Given the description of an element on the screen output the (x, y) to click on. 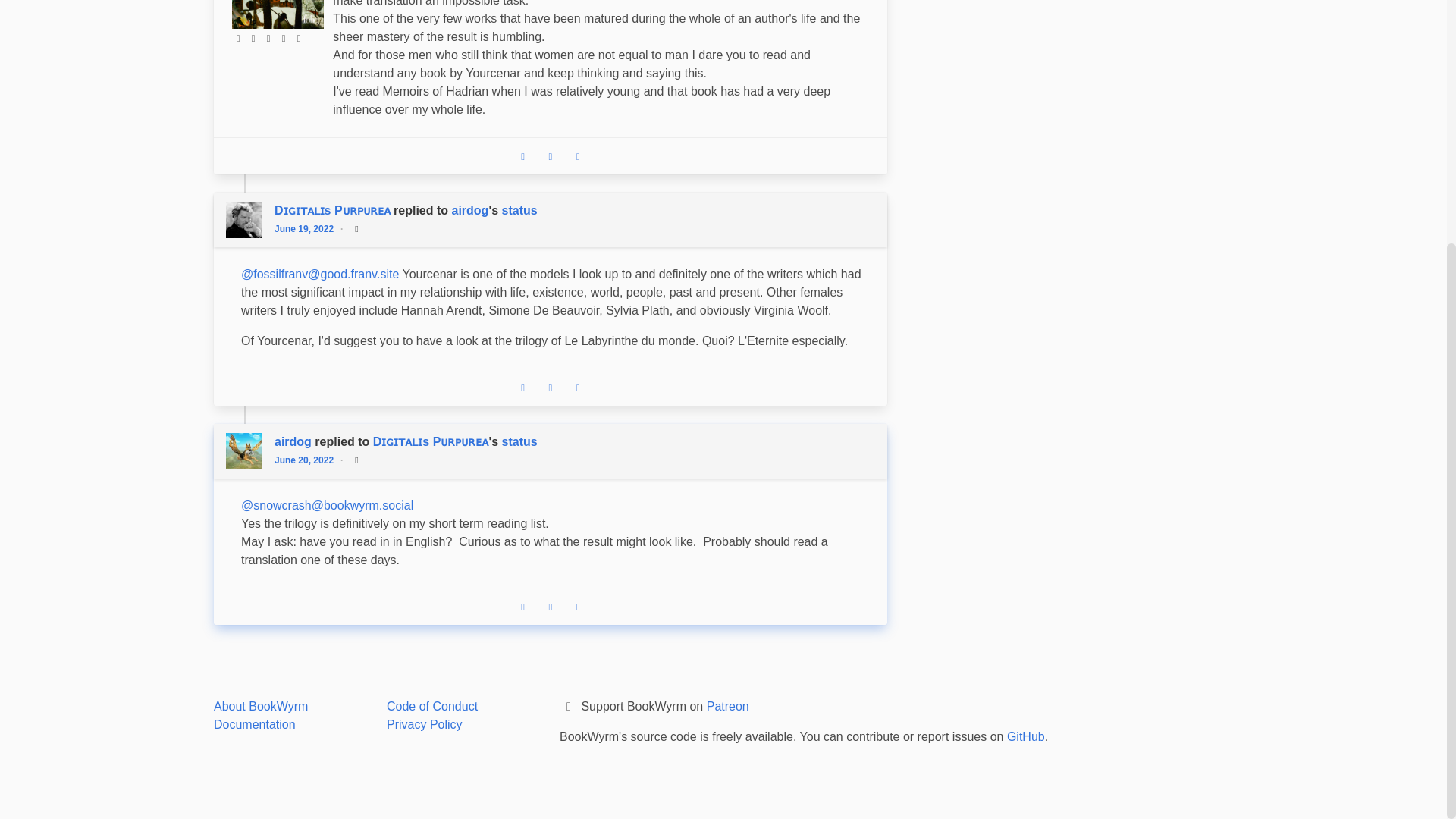
Reply (522, 606)
Like status (577, 387)
Privacy Policy (425, 723)
status (519, 209)
Public (356, 459)
Documentation (254, 723)
Like status (577, 606)
Boost status (550, 155)
June 19, 2022 (307, 228)
Reply (522, 155)
